Given the description of an element on the screen output the (x, y) to click on. 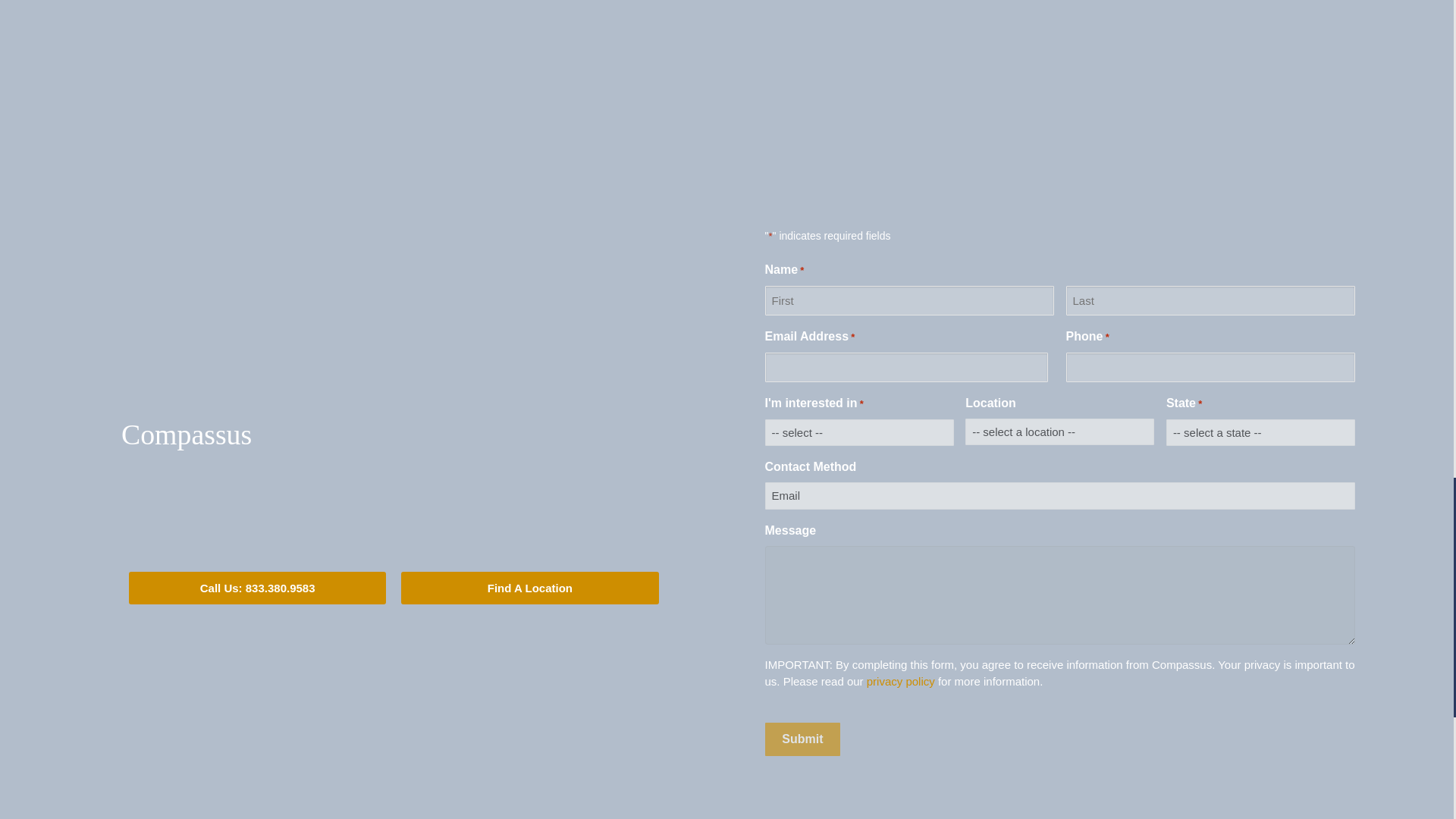
Submit (802, 738)
